Given the description of an element on the screen output the (x, y) to click on. 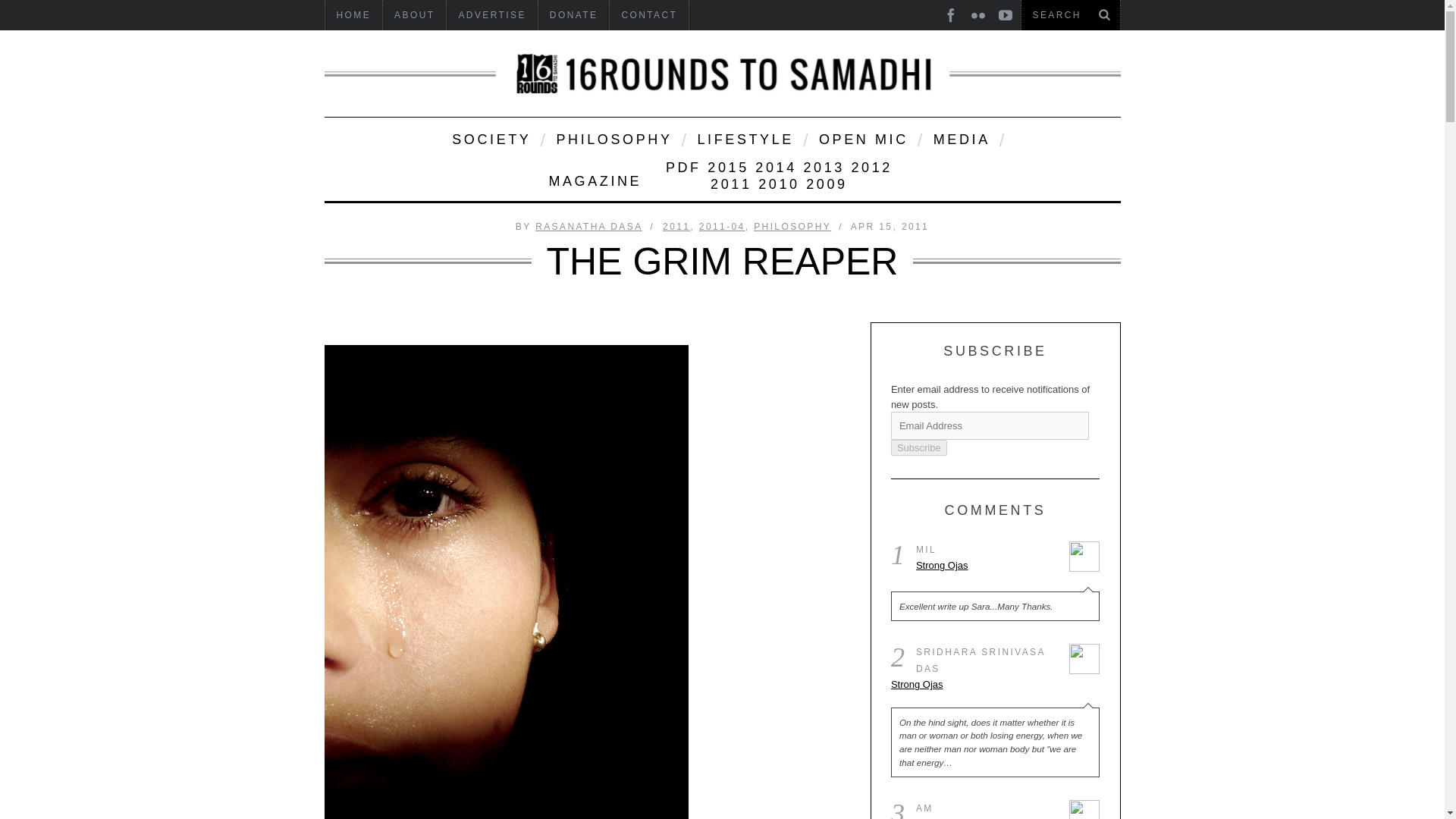
16 ROUNDS to Samadhi magazine -  (722, 73)
OPEN MIC (862, 137)
PHILOSOPHY (612, 137)
HOME (352, 14)
CONTACT (649, 14)
ABOUT (413, 14)
SOCIETY (490, 137)
DONATE (574, 14)
Search (1070, 15)
LIFESTYLE (743, 137)
